Given the description of an element on the screen output the (x, y) to click on. 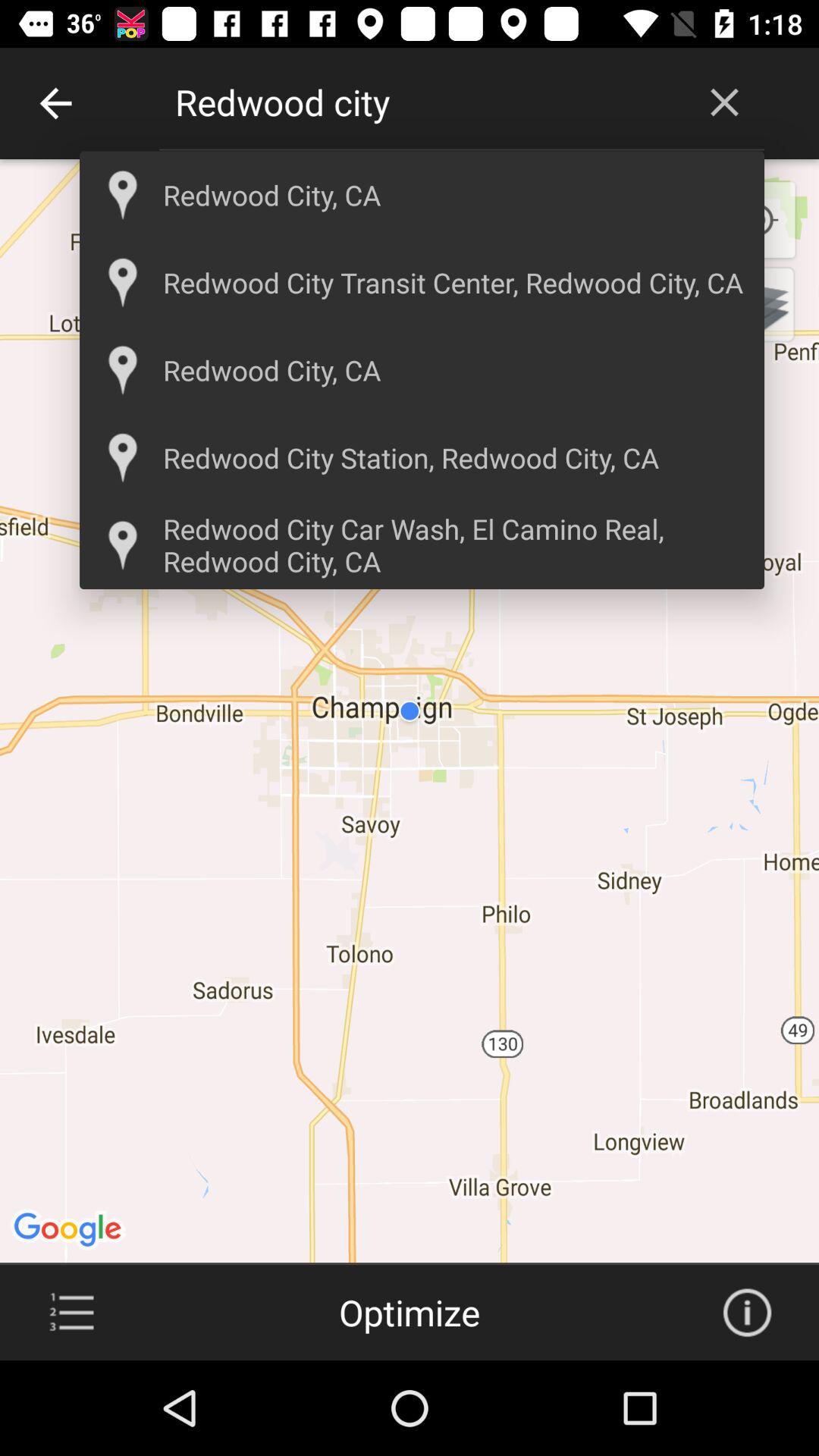
more option (71, 1312)
